Given the description of an element on the screen output the (x, y) to click on. 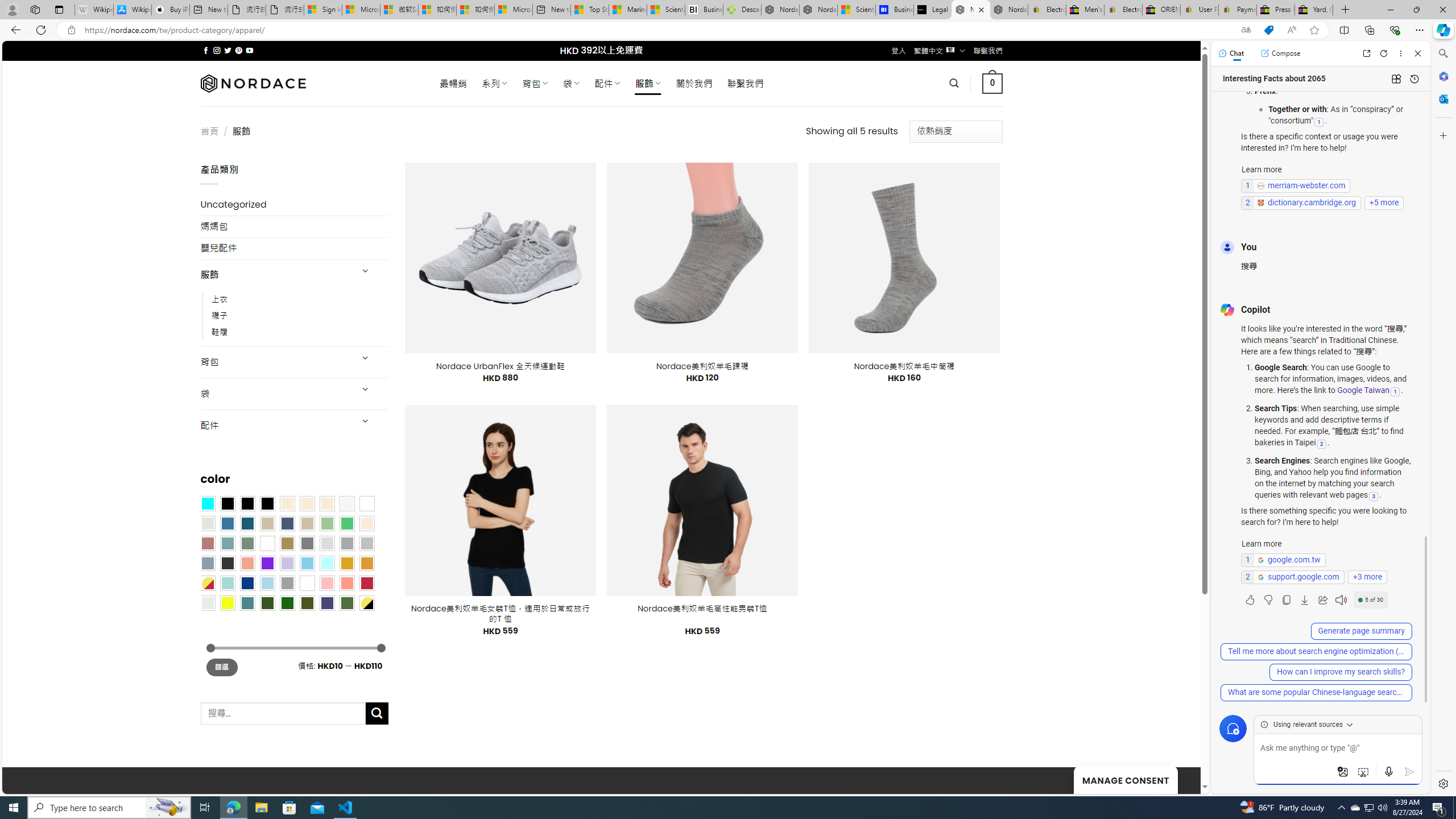
Uncategorized (294, 204)
Follow on Instagram (216, 50)
Yard, Garden & Outdoor Living (1314, 9)
User Privacy Notice | eBay (1198, 9)
